Given the description of an element on the screen output the (x, y) to click on. 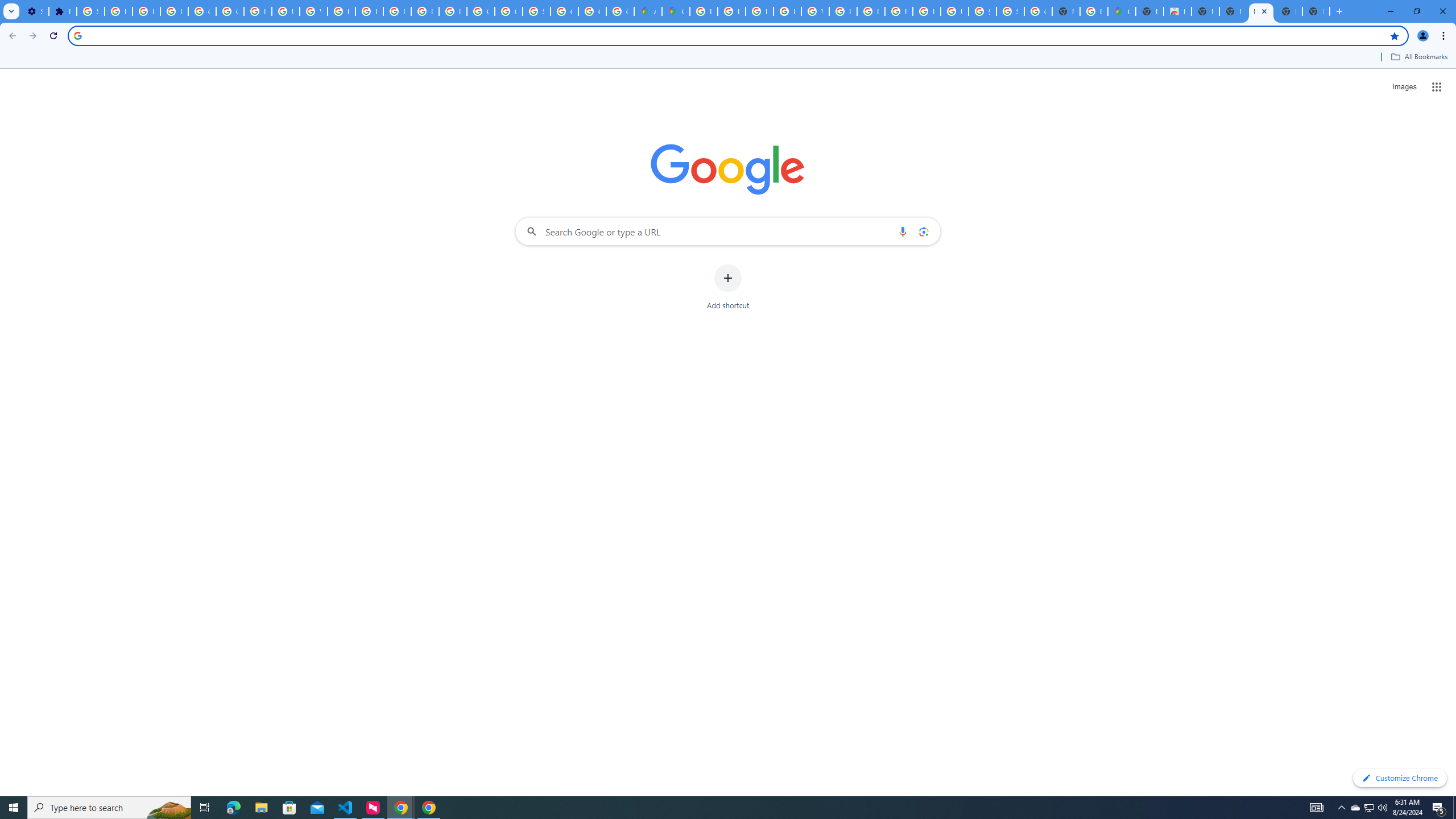
Google Maps (1121, 11)
Explore new street-level details - Google Maps Help (1093, 11)
New Tab (1288, 11)
New Tab (1316, 11)
